Given the description of an element on the screen output the (x, y) to click on. 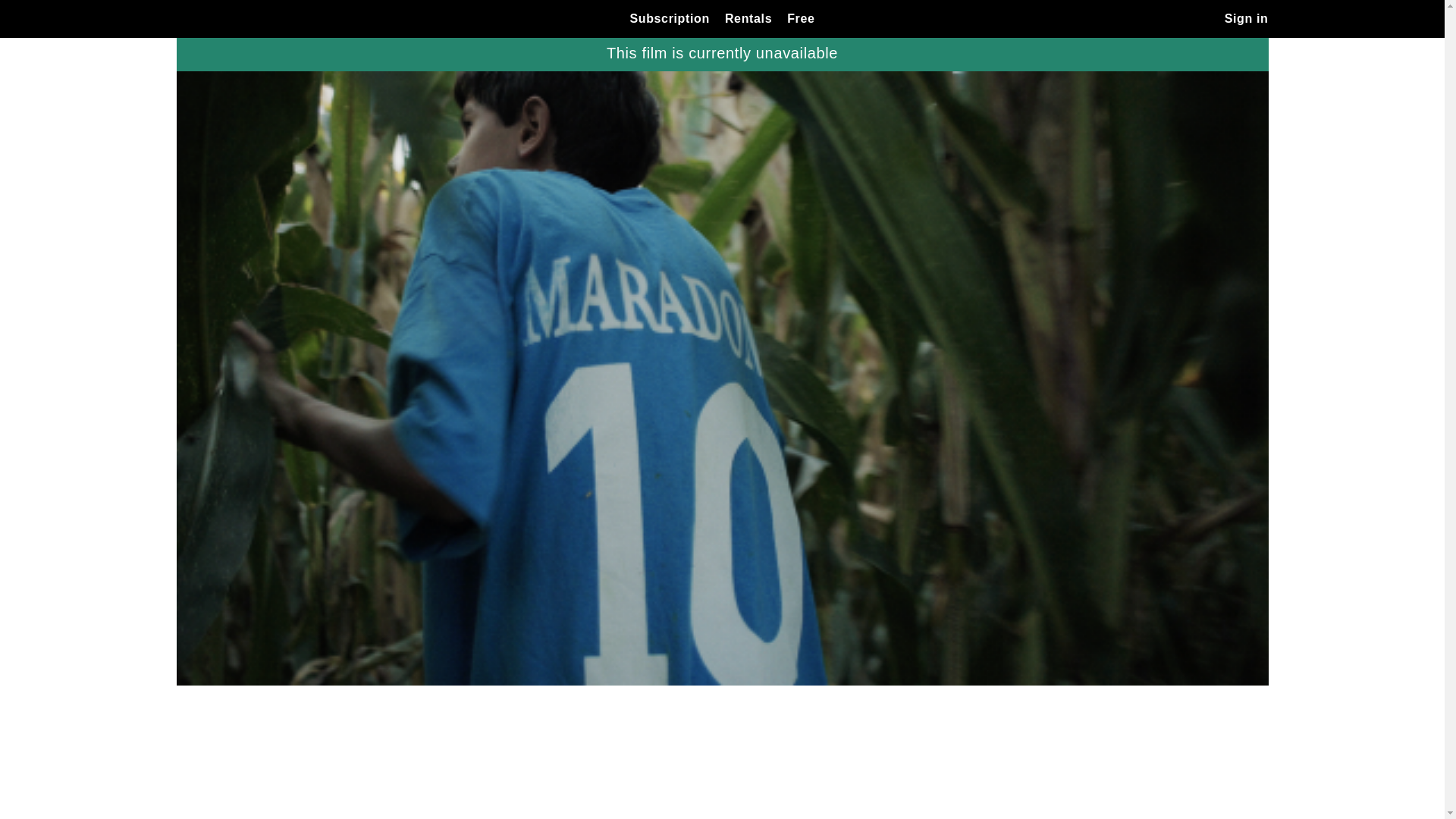
Free (800, 18)
Sign in (1246, 18)
Subscription (668, 18)
Rentals (747, 18)
Sign in (1246, 18)
